Given the description of an element on the screen output the (x, y) to click on. 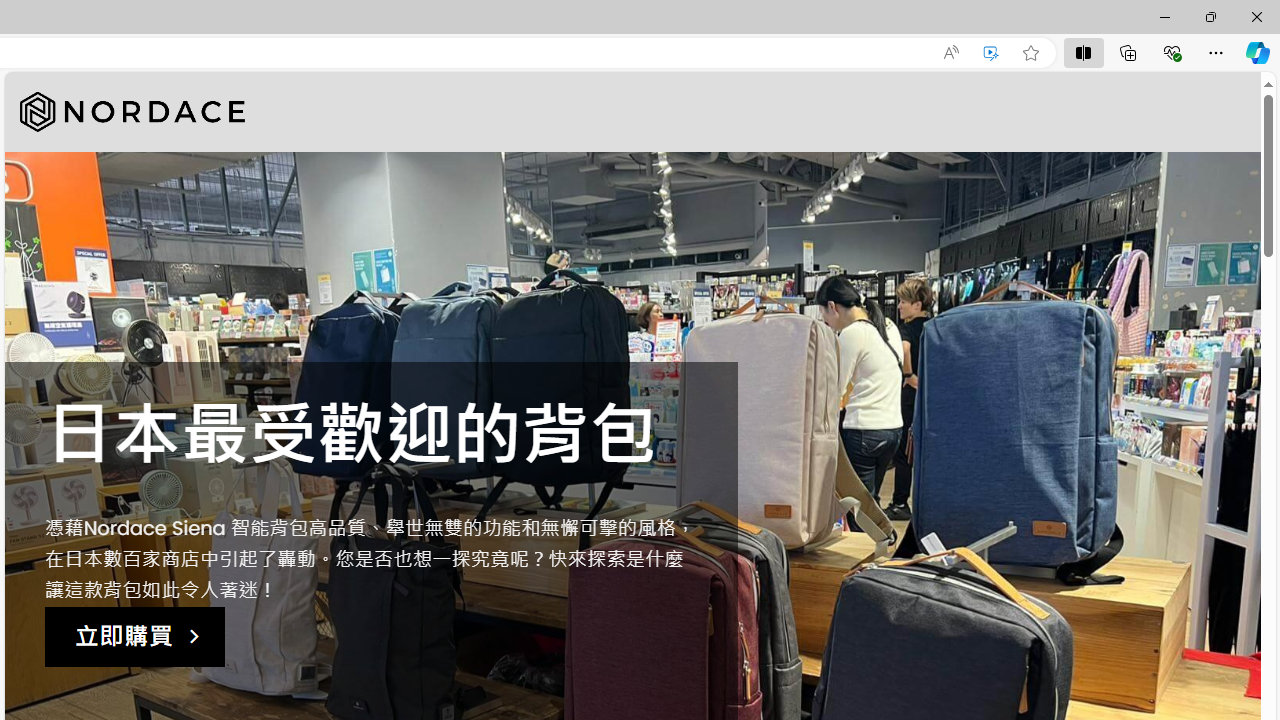
Enhance video (991, 53)
